Given the description of an element on the screen output the (x, y) to click on. 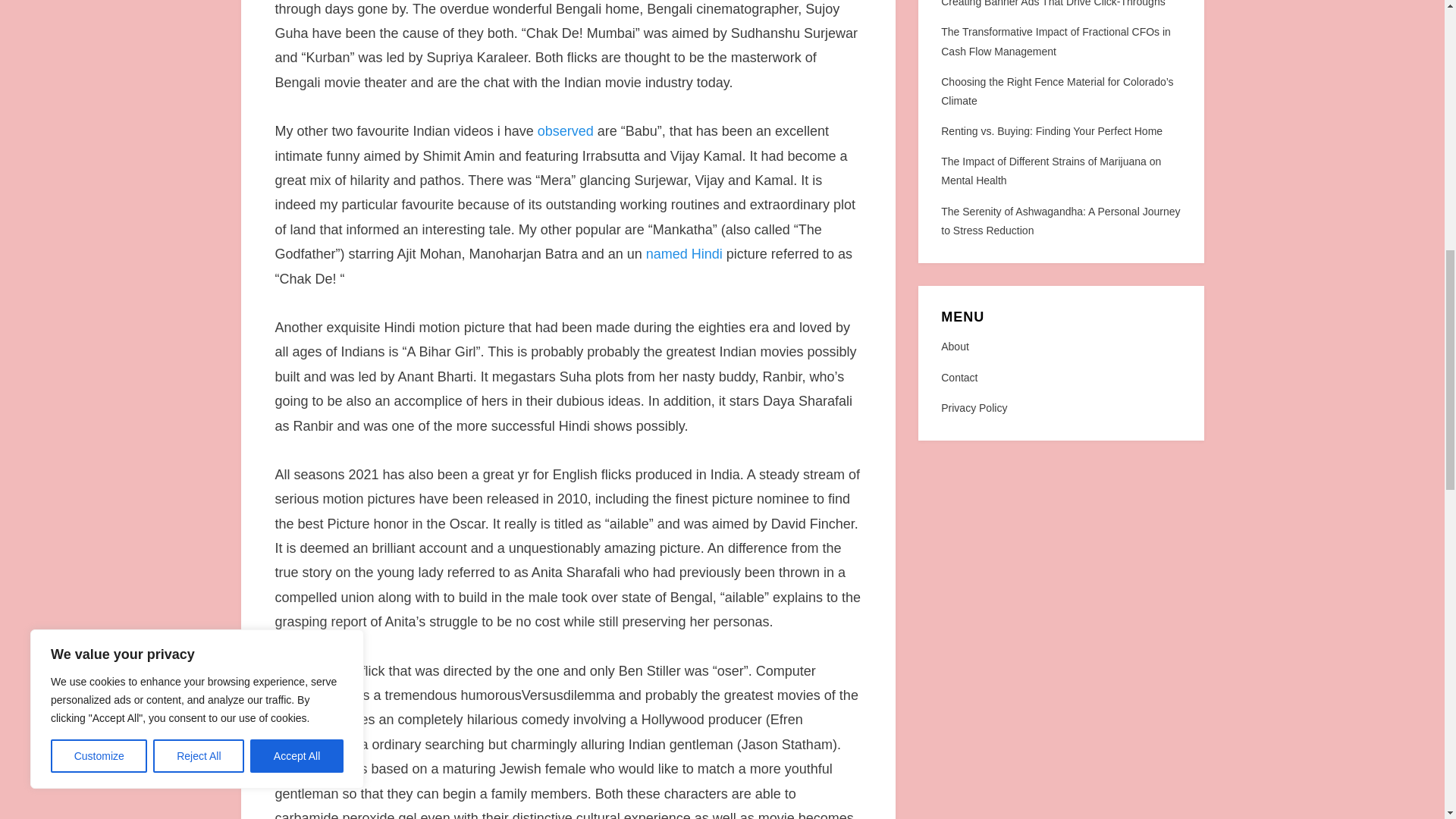
observed (565, 130)
named Hindi (684, 253)
